Given the description of an element on the screen output the (x, y) to click on. 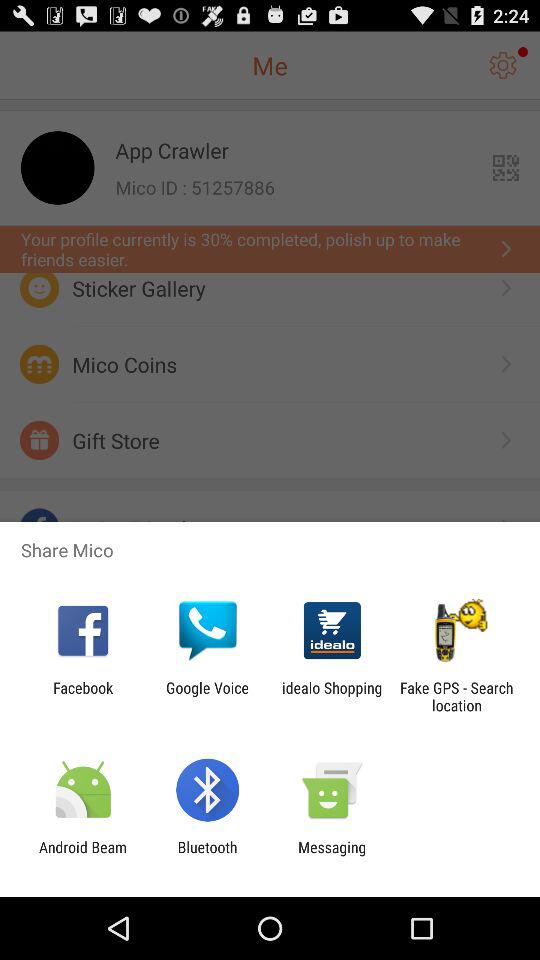
click item next to the google voice icon (83, 696)
